Given the description of an element on the screen output the (x, y) to click on. 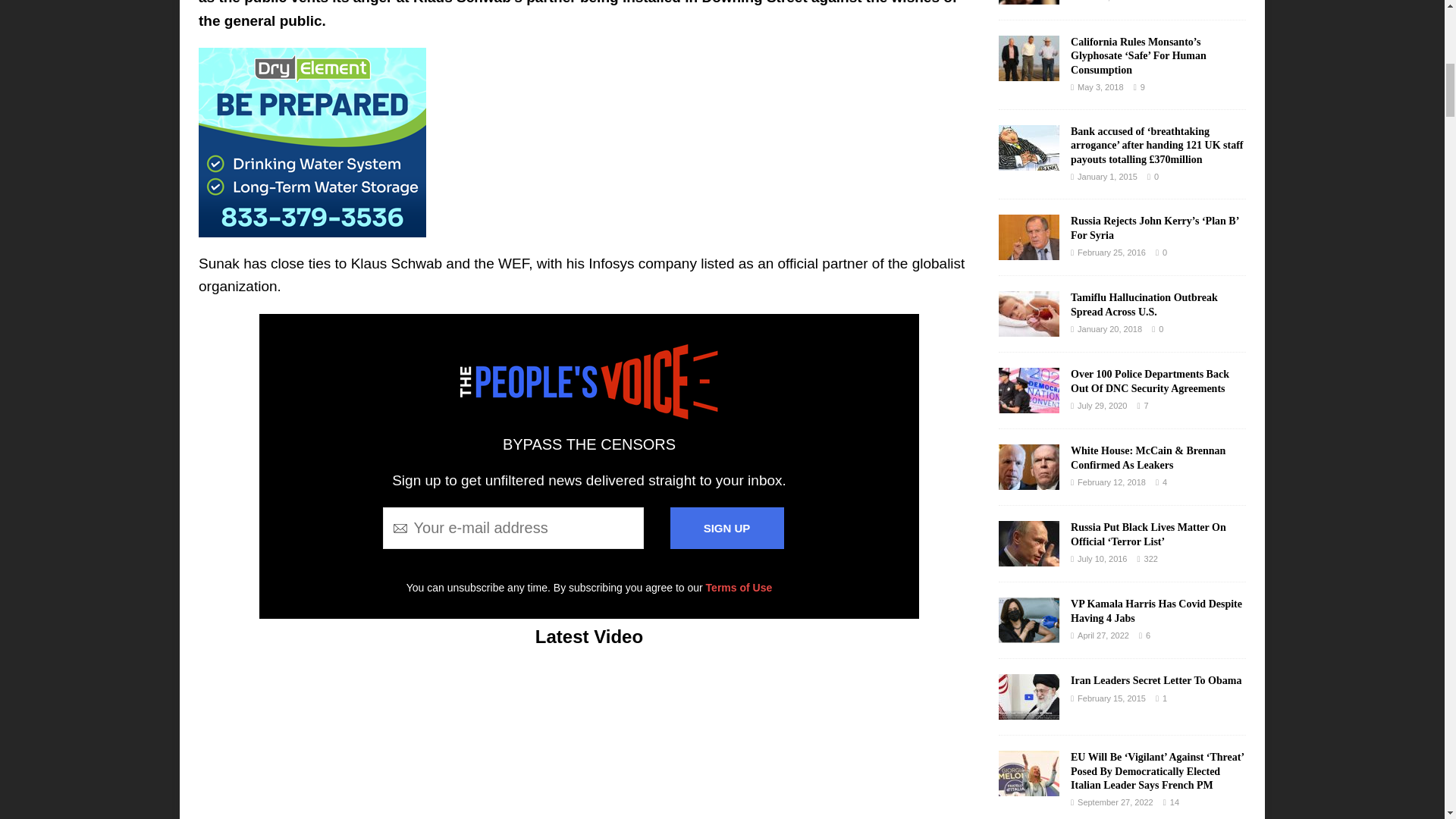
SIGN UP (726, 527)
